Given the description of an element on the screen output the (x, y) to click on. 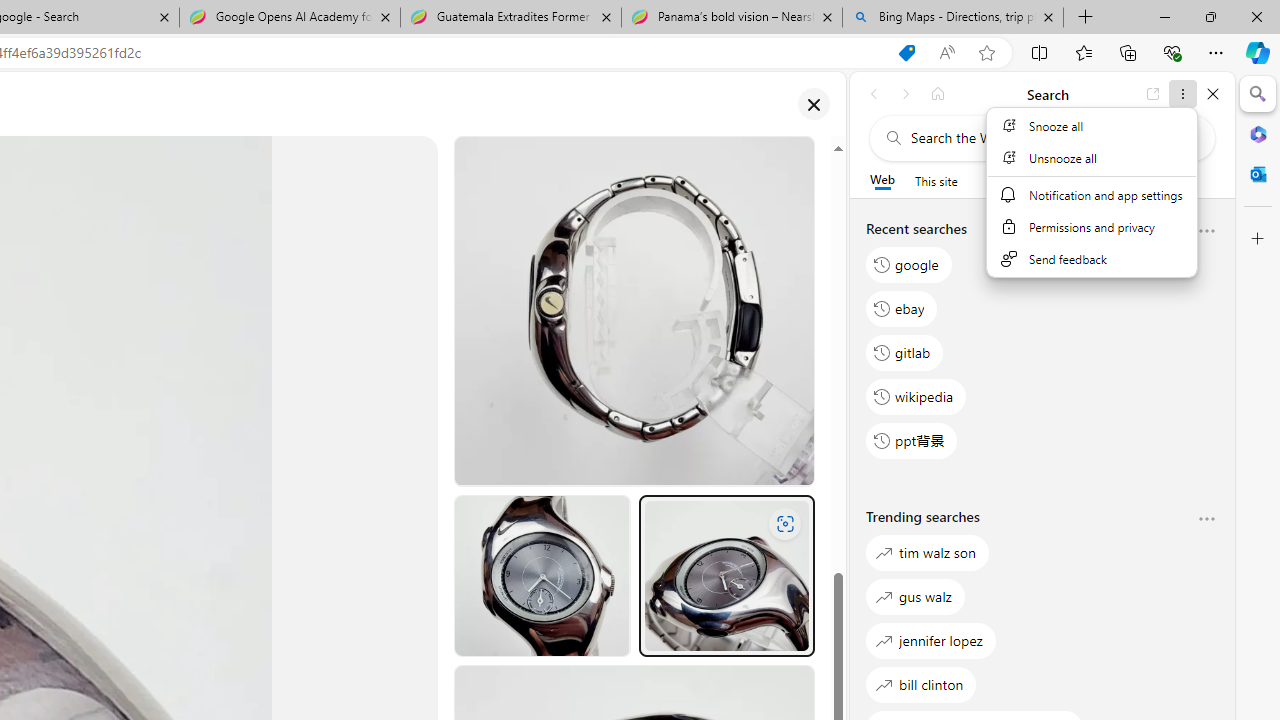
Search the web (1051, 137)
Web scope (882, 180)
Send feedback (1091, 259)
gus walz (915, 596)
bill clinton (921, 684)
You have the best price! Shopping in Microsoft Edge (906, 53)
